Given the description of an element on the screen output the (x, y) to click on. 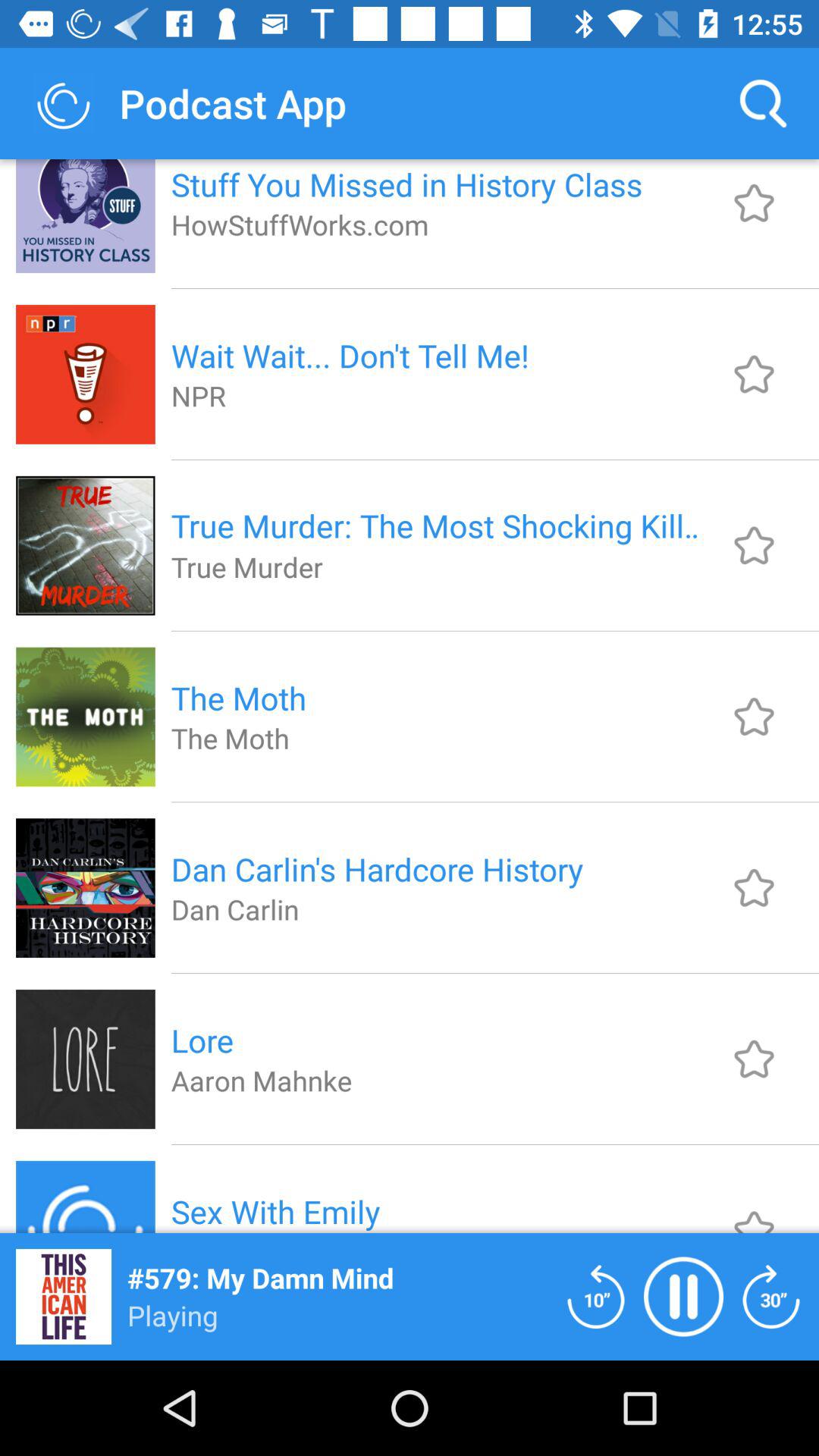
favourite (754, 887)
